Given the description of an element on the screen output the (x, y) to click on. 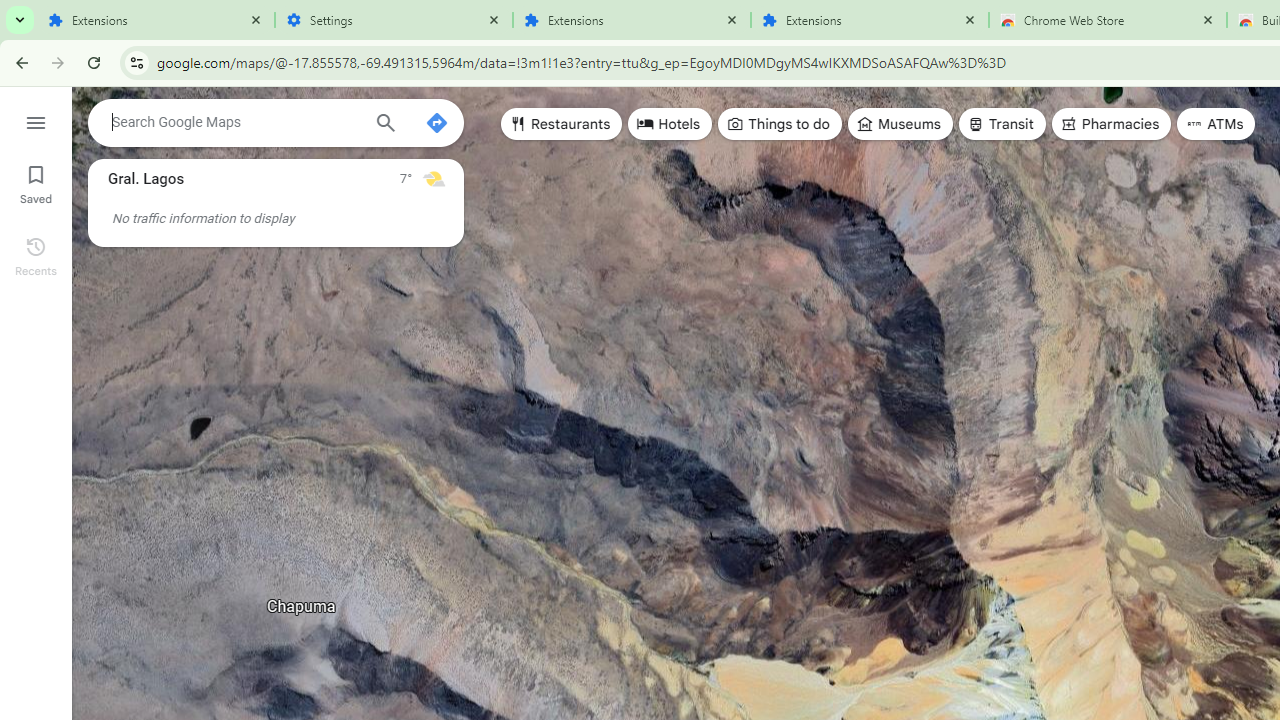
Transit (1001, 124)
Things to do (780, 124)
Menu (35, 120)
Directions (436, 122)
ATMs (1216, 124)
Restaurants (561, 124)
Extensions (870, 20)
Museums (900, 124)
Partly cloudy (433, 178)
